Given the description of an element on the screen output the (x, y) to click on. 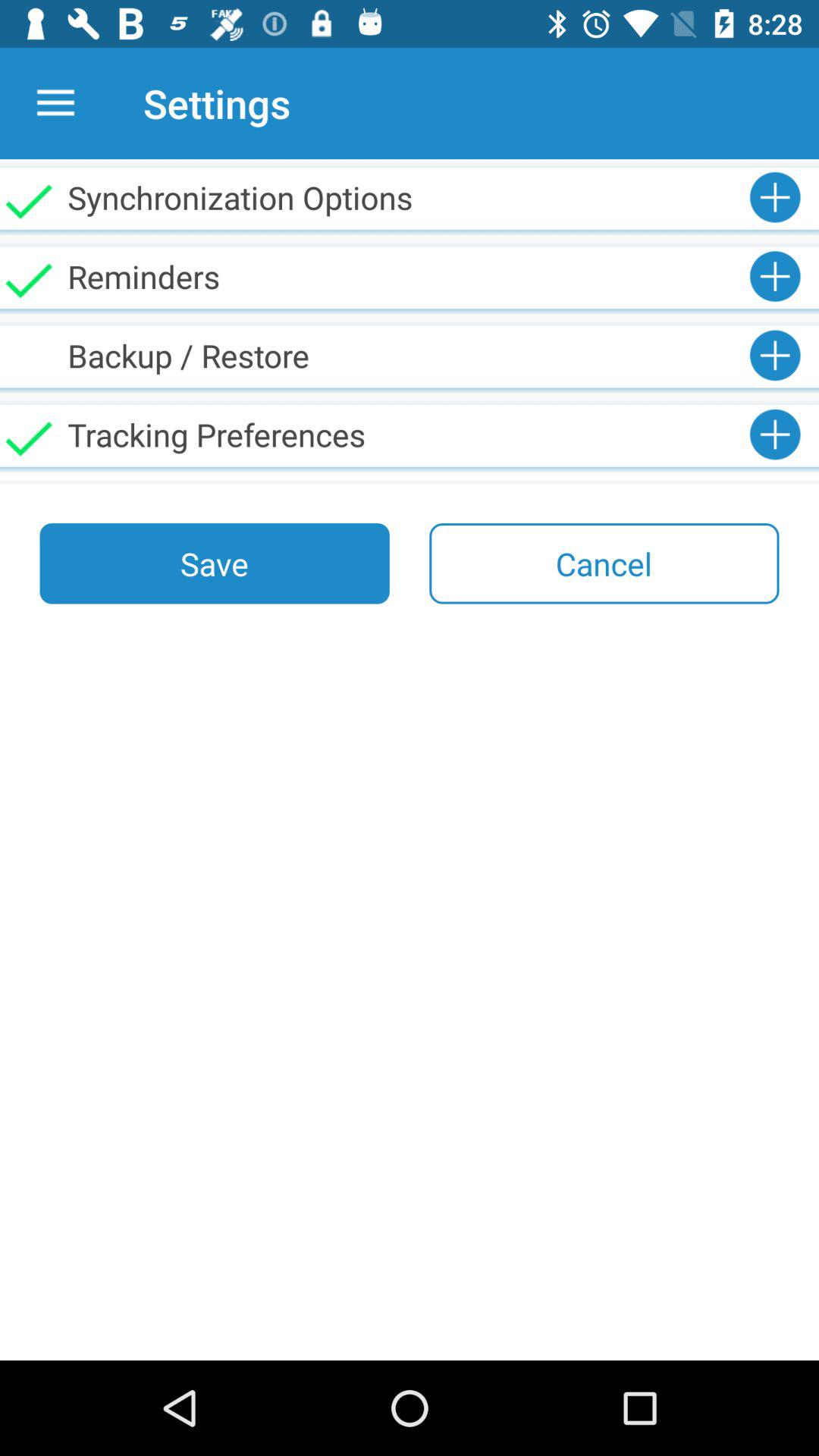
turn off the icon on the right (604, 563)
